Given the description of an element on the screen output the (x, y) to click on. 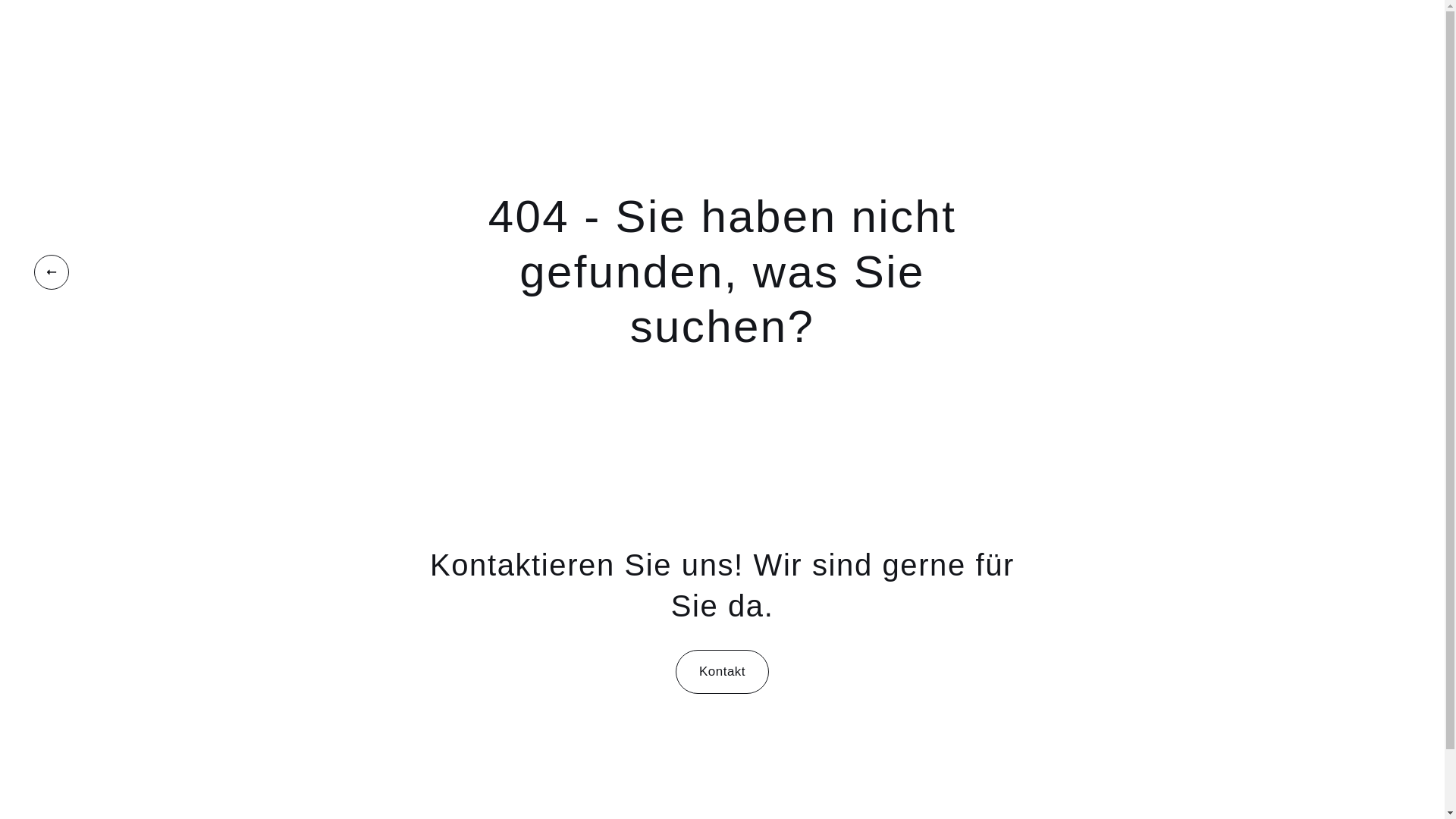
Kontakt Element type: text (721, 671)
